Given the description of an element on the screen output the (x, y) to click on. 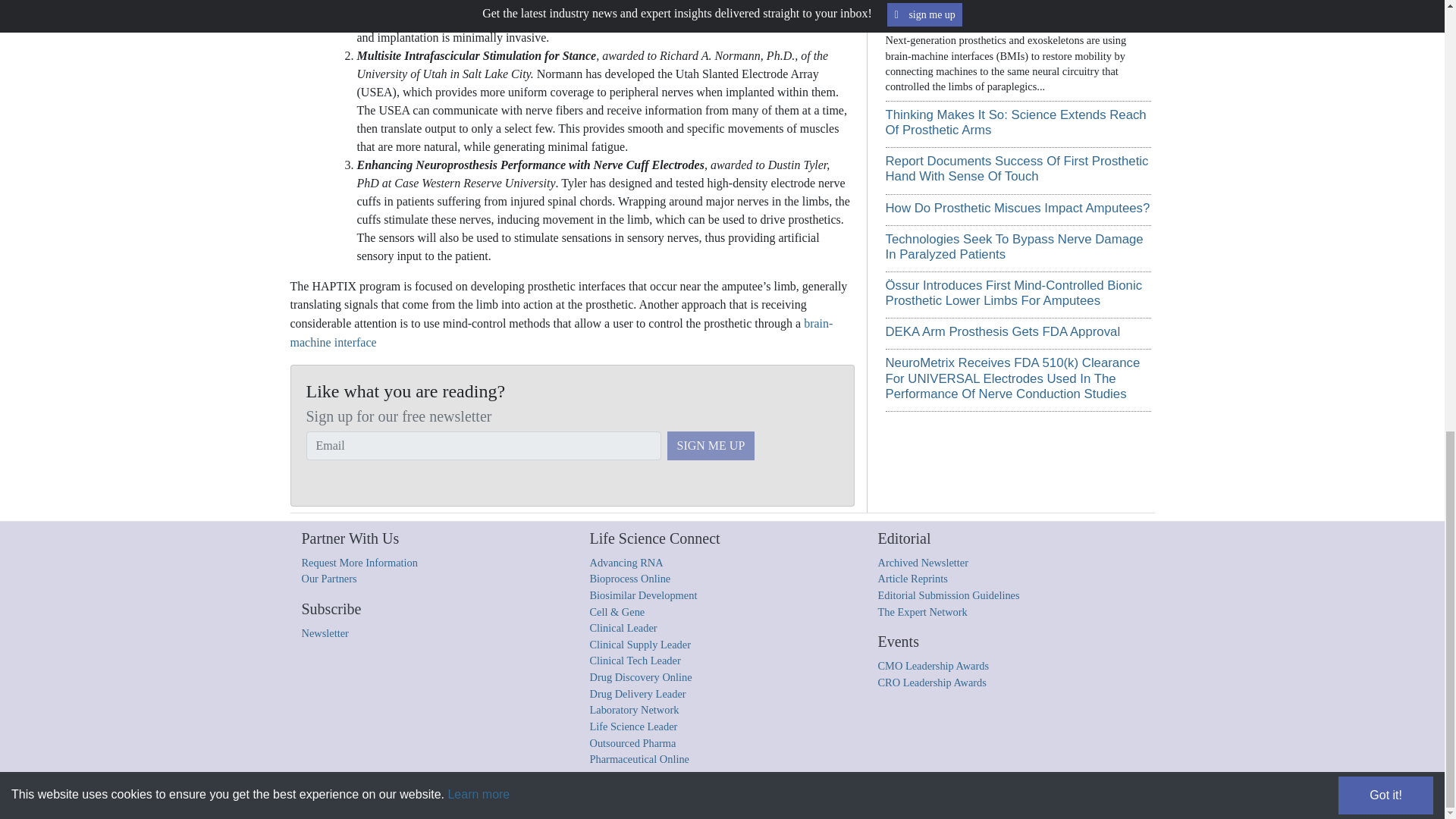
DEKA Arm Prosthesis Gets FDA Approval (1003, 331)
brain-machine interface (560, 332)
SIGN ME UP (710, 445)
How Do Prosthetic Miscues Impact Amputees? (1017, 207)
